Given the description of an element on the screen output the (x, y) to click on. 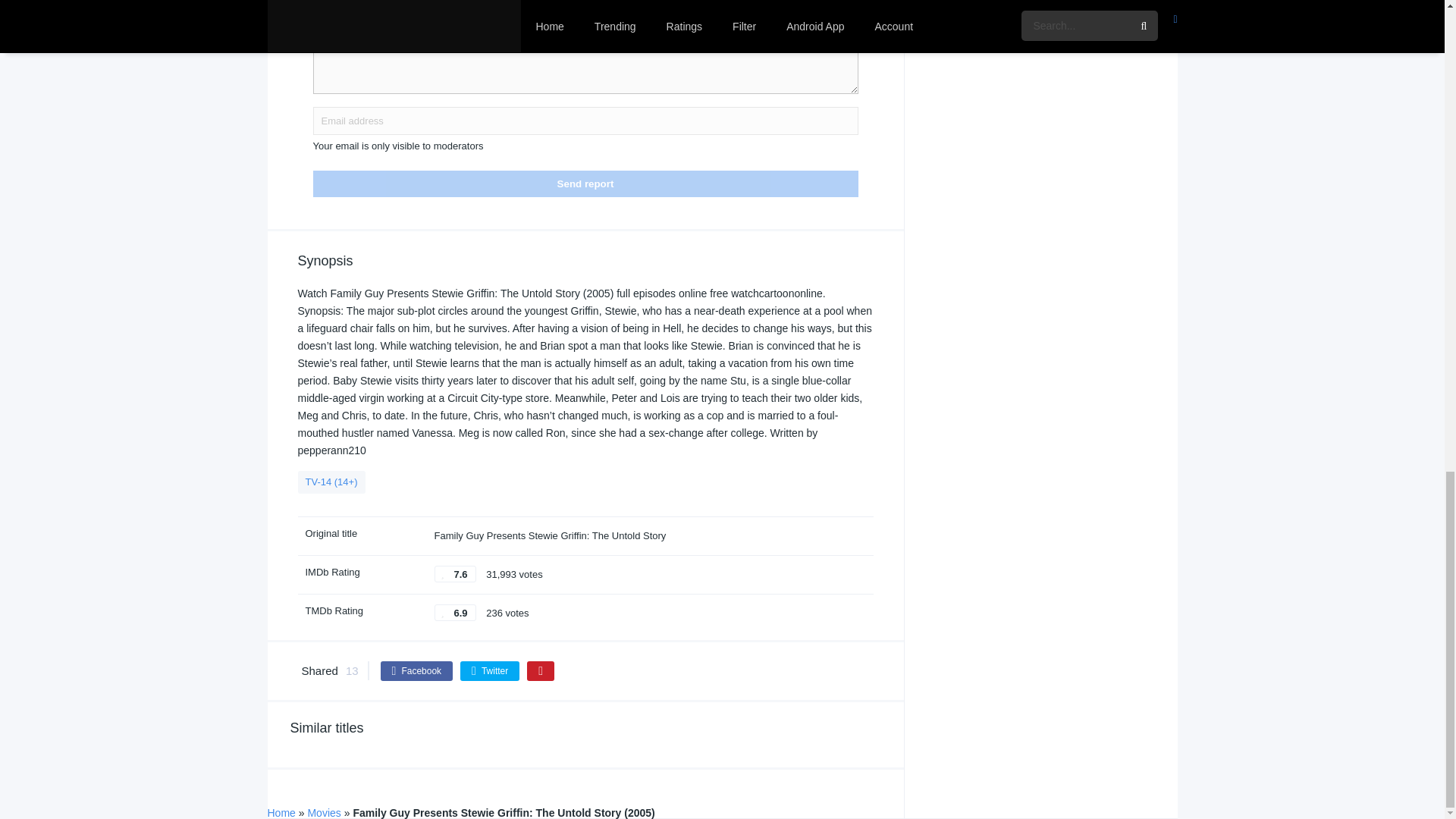
Send report (585, 183)
